Given the description of an element on the screen output the (x, y) to click on. 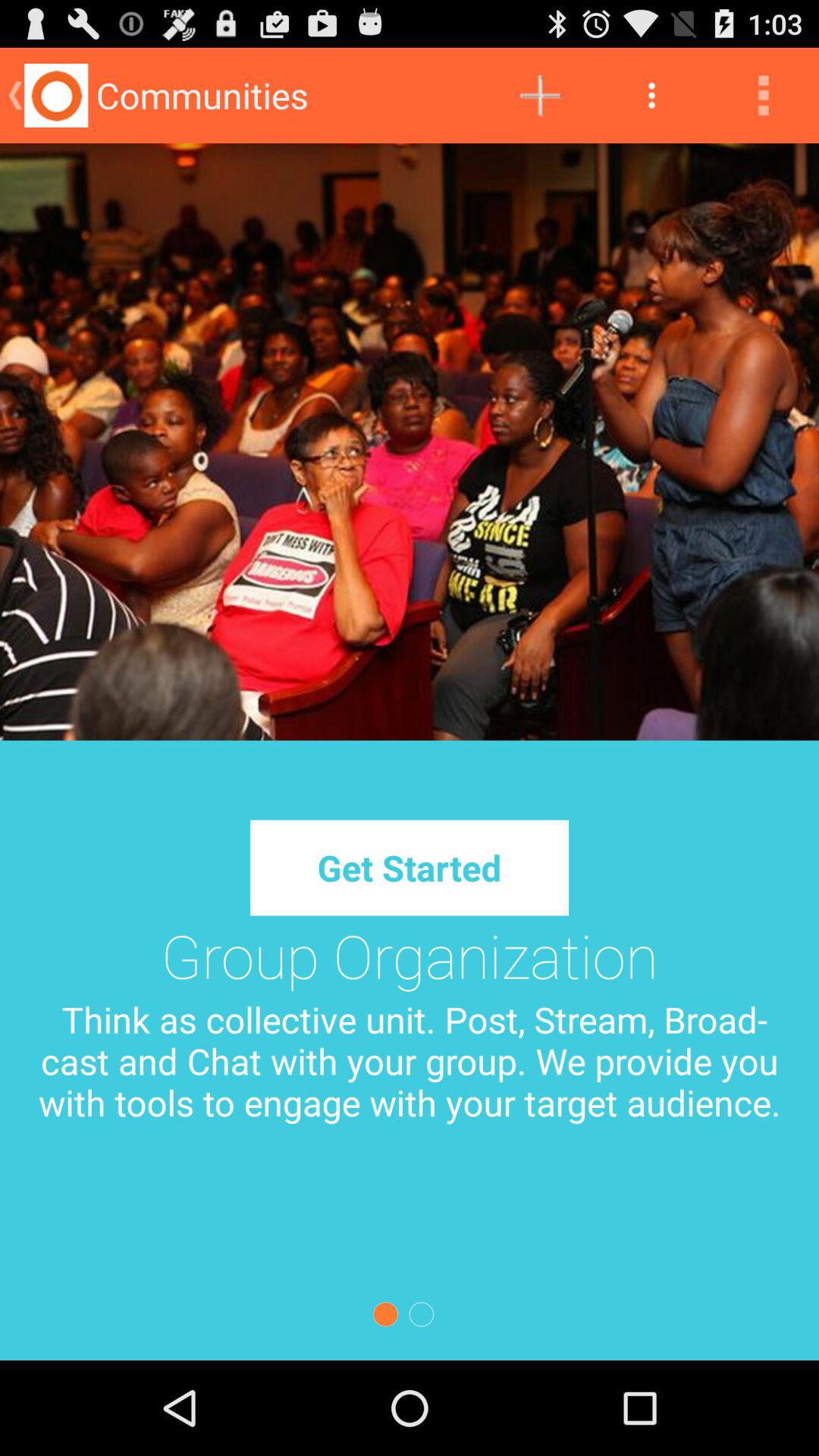
flip until the get started button (409, 867)
